Given the description of an element on the screen output the (x, y) to click on. 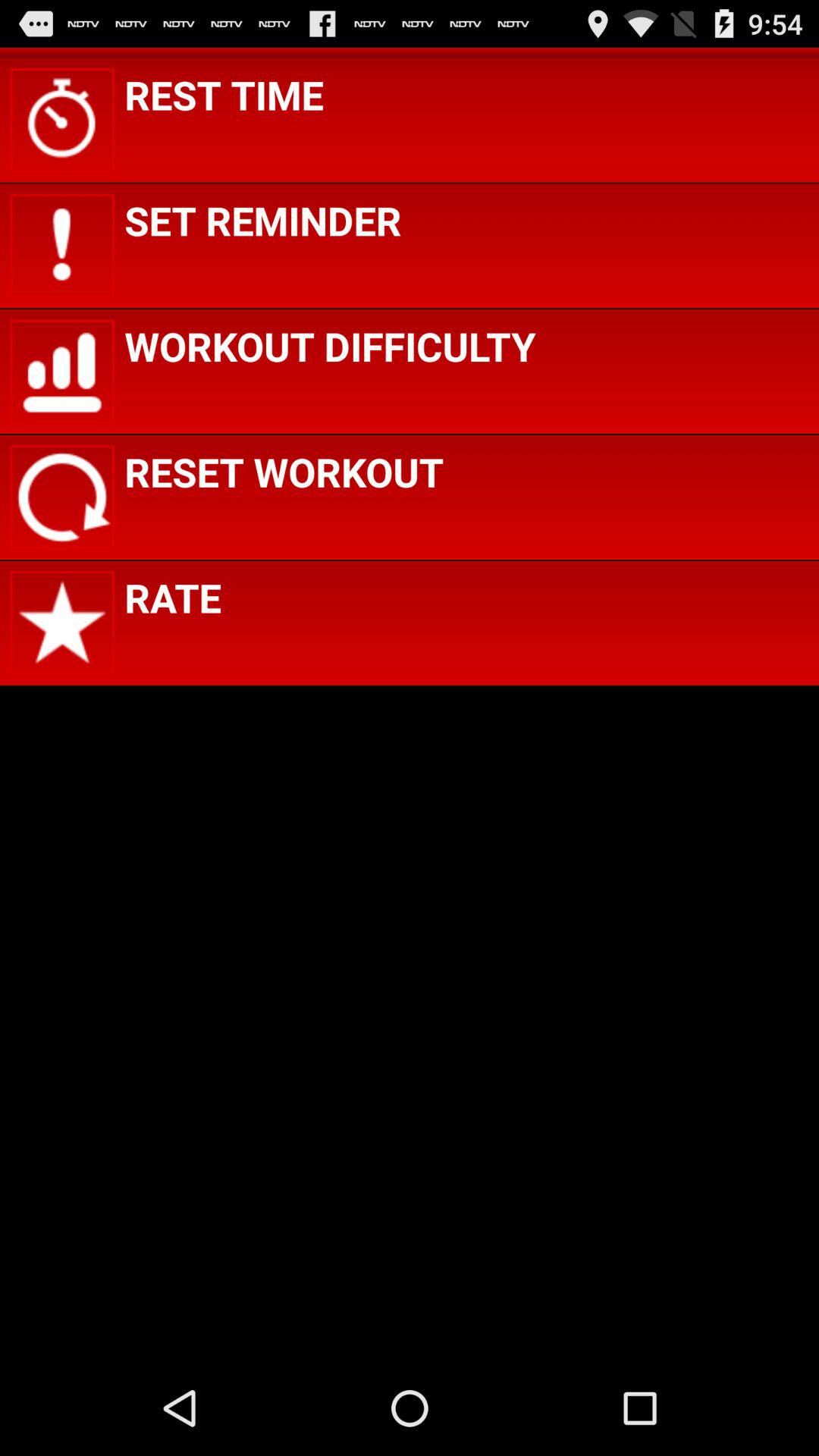
open the app above workout difficulty (262, 219)
